Given the description of an element on the screen output the (x, y) to click on. 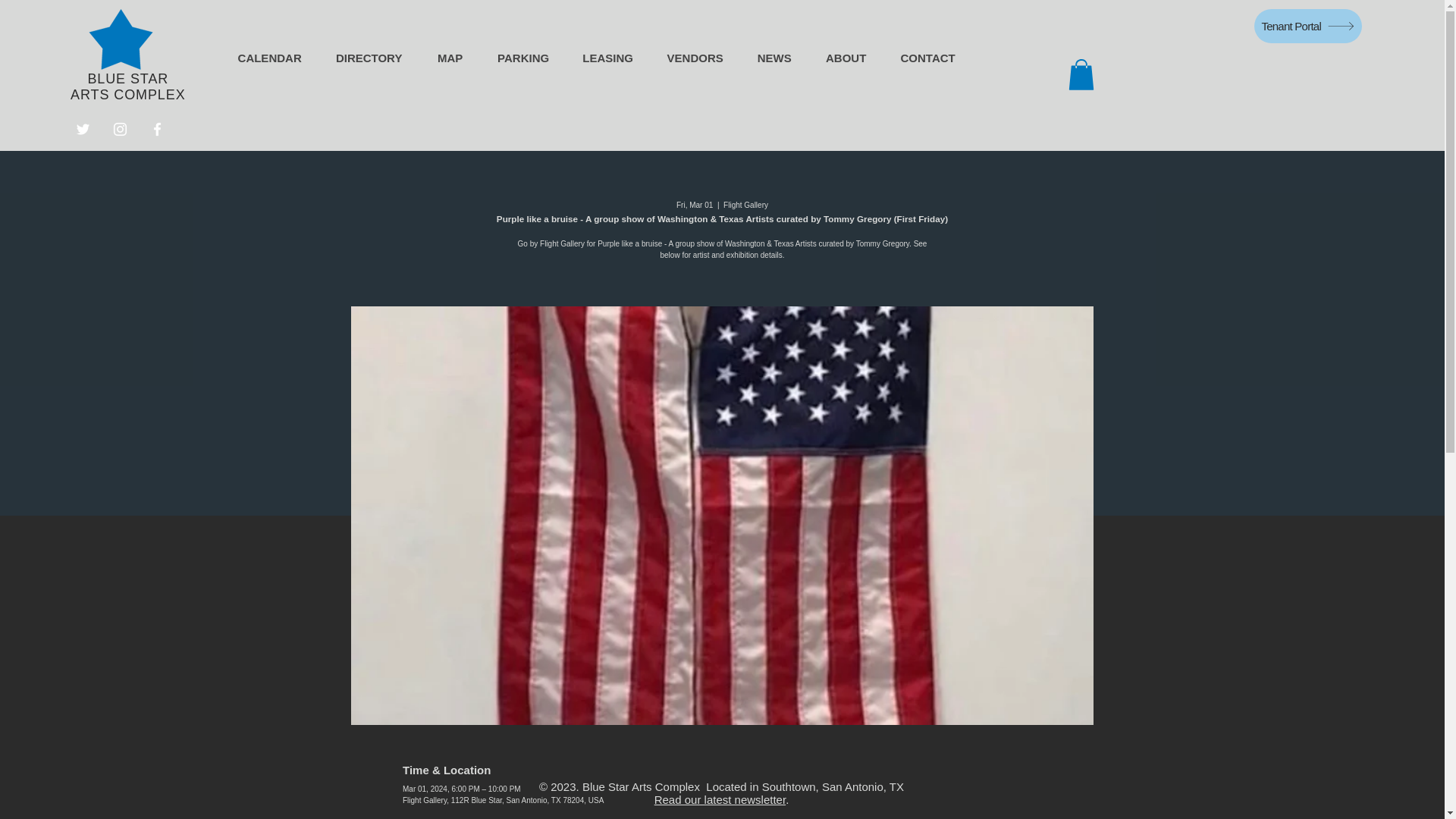
LEASING (607, 57)
MAP (449, 57)
NEWS (773, 57)
BLUE STAR ARTS COMPLEX (127, 86)
VENDORS (694, 57)
Read our latest newsletter (719, 799)
Tenant Portal (1307, 26)
CONTACT (927, 57)
DIRECTORY (368, 57)
CALENDAR (269, 57)
